Given the description of an element on the screen output the (x, y) to click on. 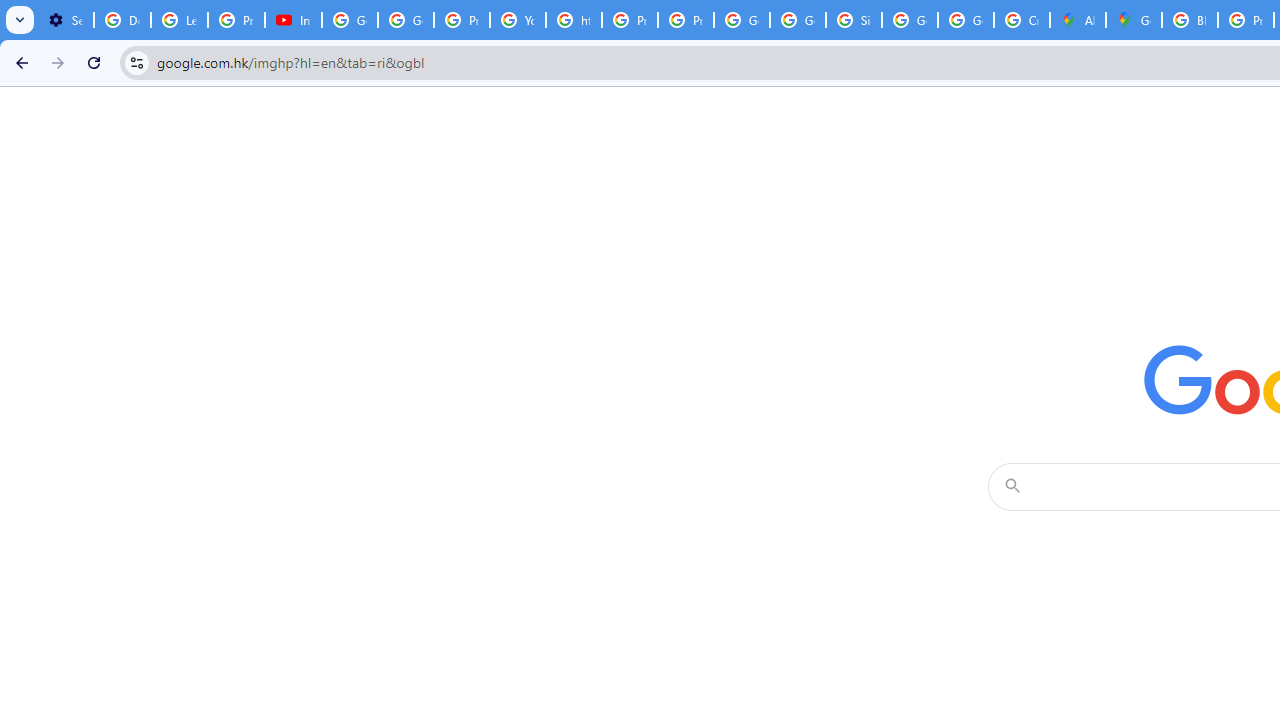
Google Maps (1133, 20)
Create your Google Account (1021, 20)
Sign in - Google Accounts (853, 20)
Privacy Help Center - Policies Help (629, 20)
YouTube (518, 20)
Google Account Help (349, 20)
Delete photos & videos - Computer - Google Photos Help (122, 20)
